Given the description of an element on the screen output the (x, y) to click on. 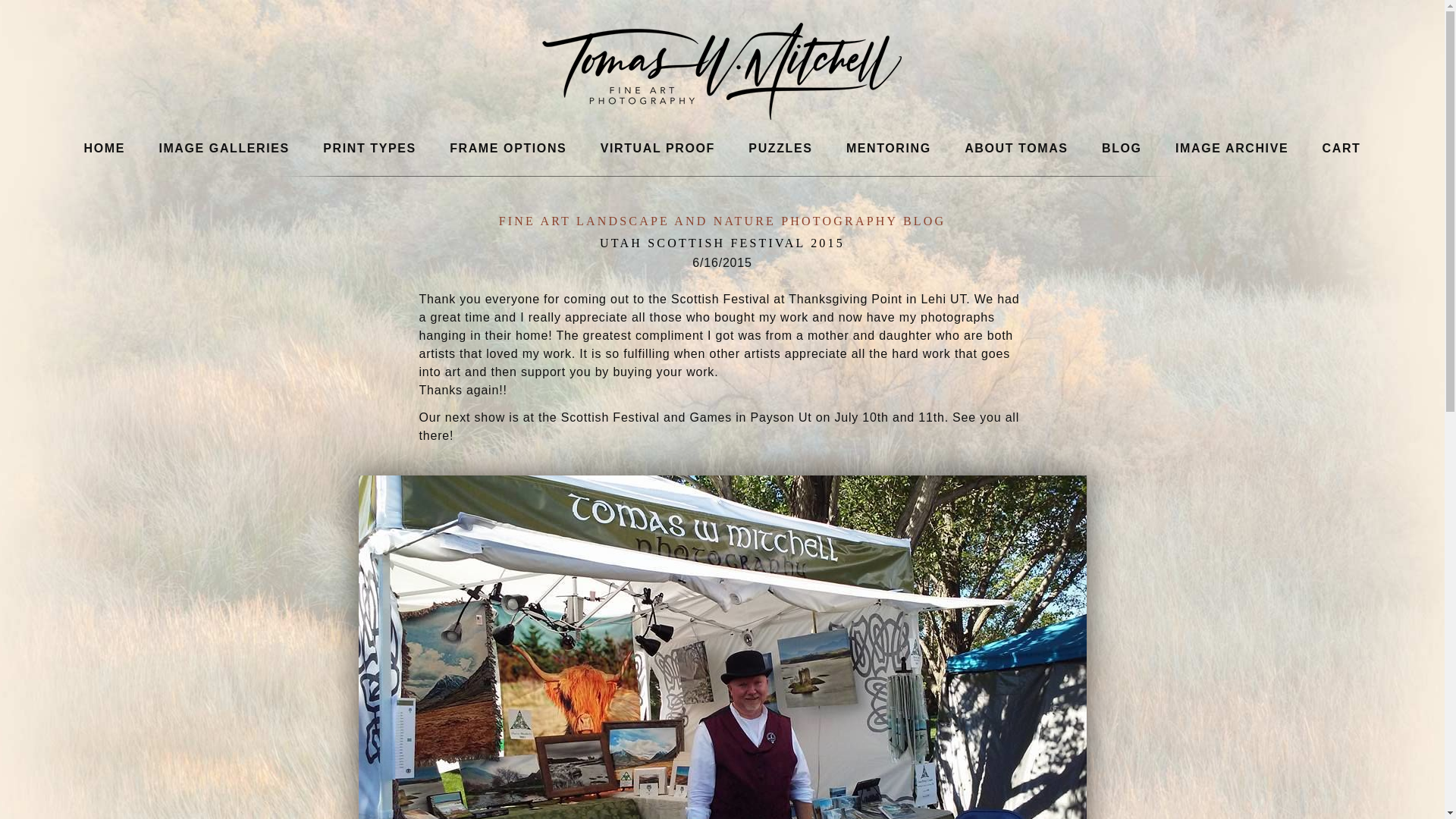
BLOG (1121, 147)
PRINT TYPES (369, 147)
MENTORING (887, 147)
IMAGE GALLERIES (224, 147)
CART (1340, 147)
HOME (103, 147)
FRAME OPTIONS (507, 147)
FINE ART LANDSCAPE AND NATURE PHOTOGRAPHY BLOG (722, 220)
IMAGE ARCHIVE (1231, 147)
